Given the description of an element on the screen output the (x, y) to click on. 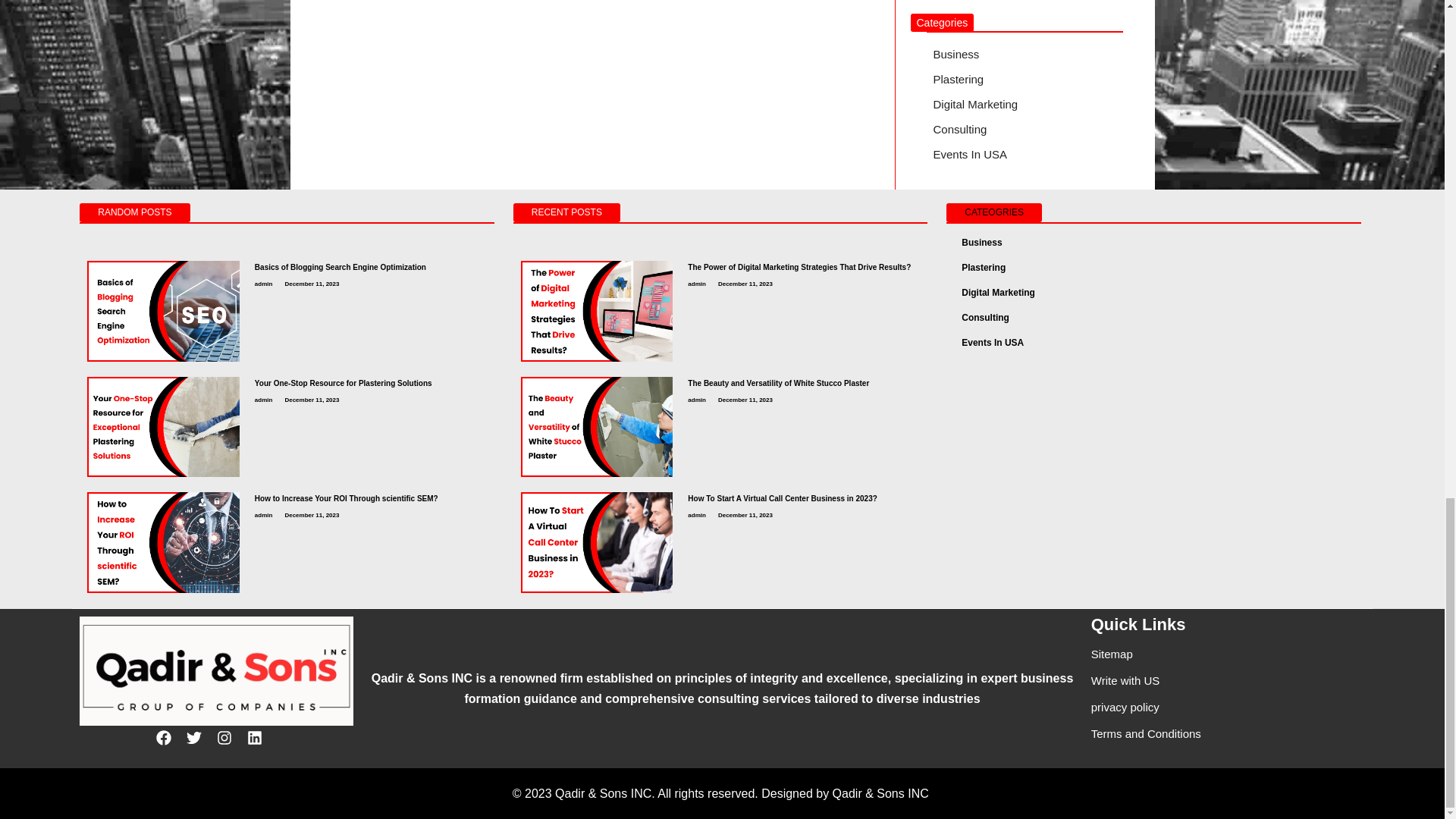
Qns-INC-logo.jpg - Qadirnsons (216, 670)
7 - Qadirnsons (596, 426)
22 - Qadirnsons (163, 311)
13 - Qadirnsons (596, 542)
24 - Qadirnsons (596, 311)
25 - Qadirnsons (163, 542)
2 - Qadirnsons (163, 426)
